Given the description of an element on the screen output the (x, y) to click on. 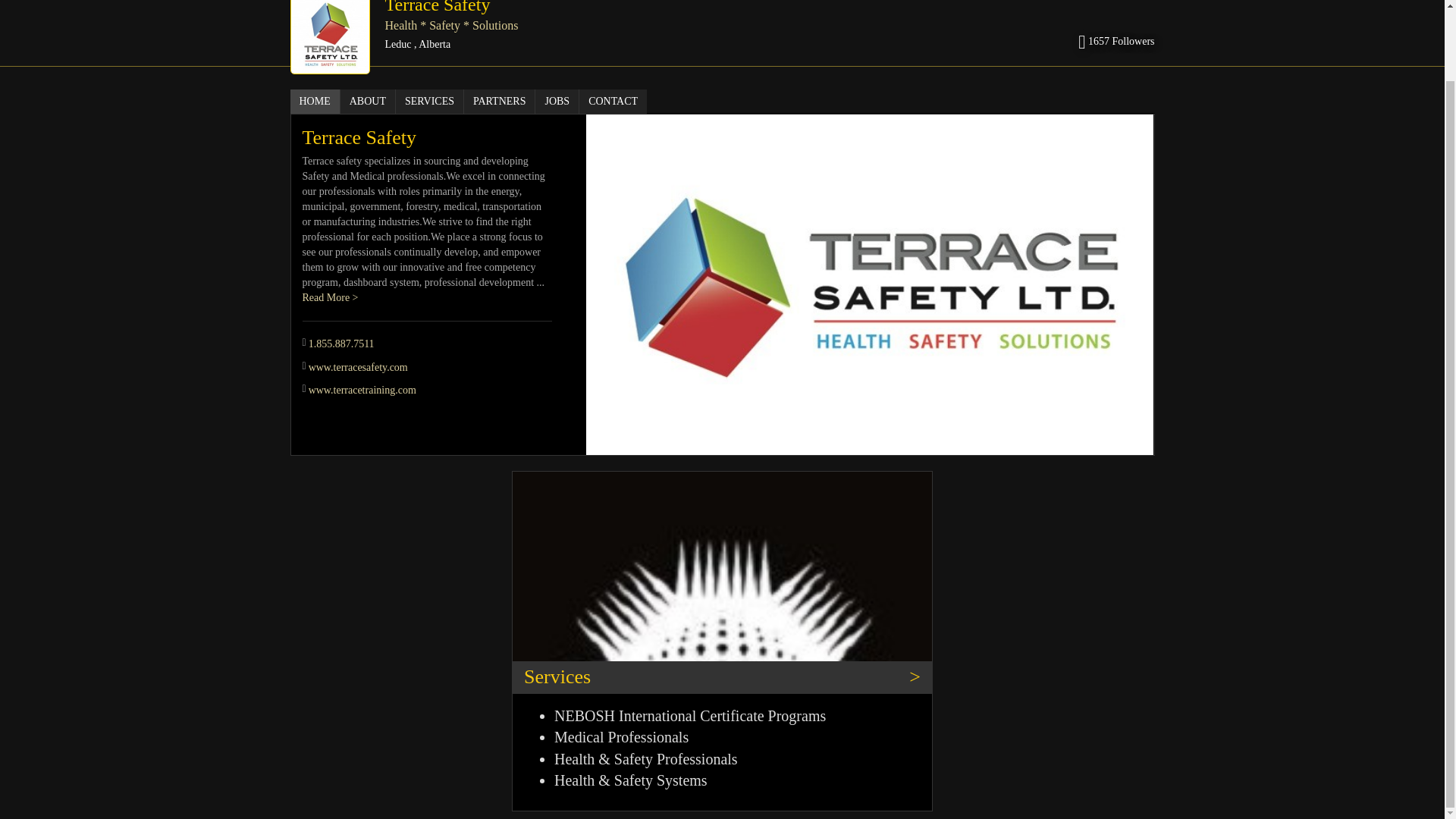
www.terracesafety.com (357, 367)
ABOUT (368, 101)
PARTNERS (499, 101)
1.855.887.7511 (341, 343)
JOBS (557, 101)
CONTACT (612, 101)
www.terracetraining.com (362, 389)
HOME (314, 101)
SERVICES (430, 101)
Terrace Safety (437, 7)
